Given the description of an element on the screen output the (x, y) to click on. 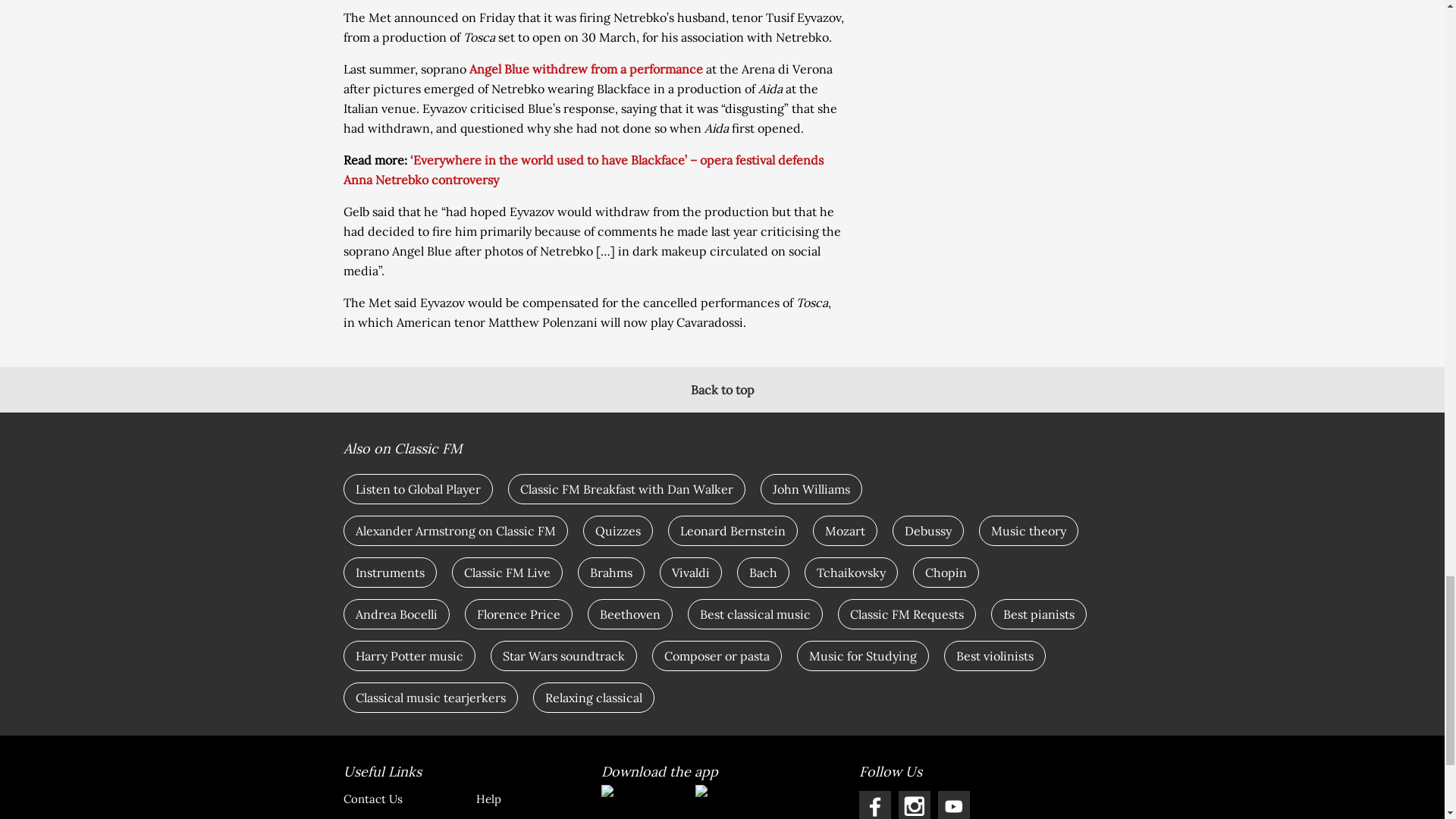
Follow Classic FM on Instagram (914, 805)
Follow Classic FM on Youtube (953, 805)
Back to top (722, 389)
Follow Classic FM on Facebook (874, 805)
